Given the description of an element on the screen output the (x, y) to click on. 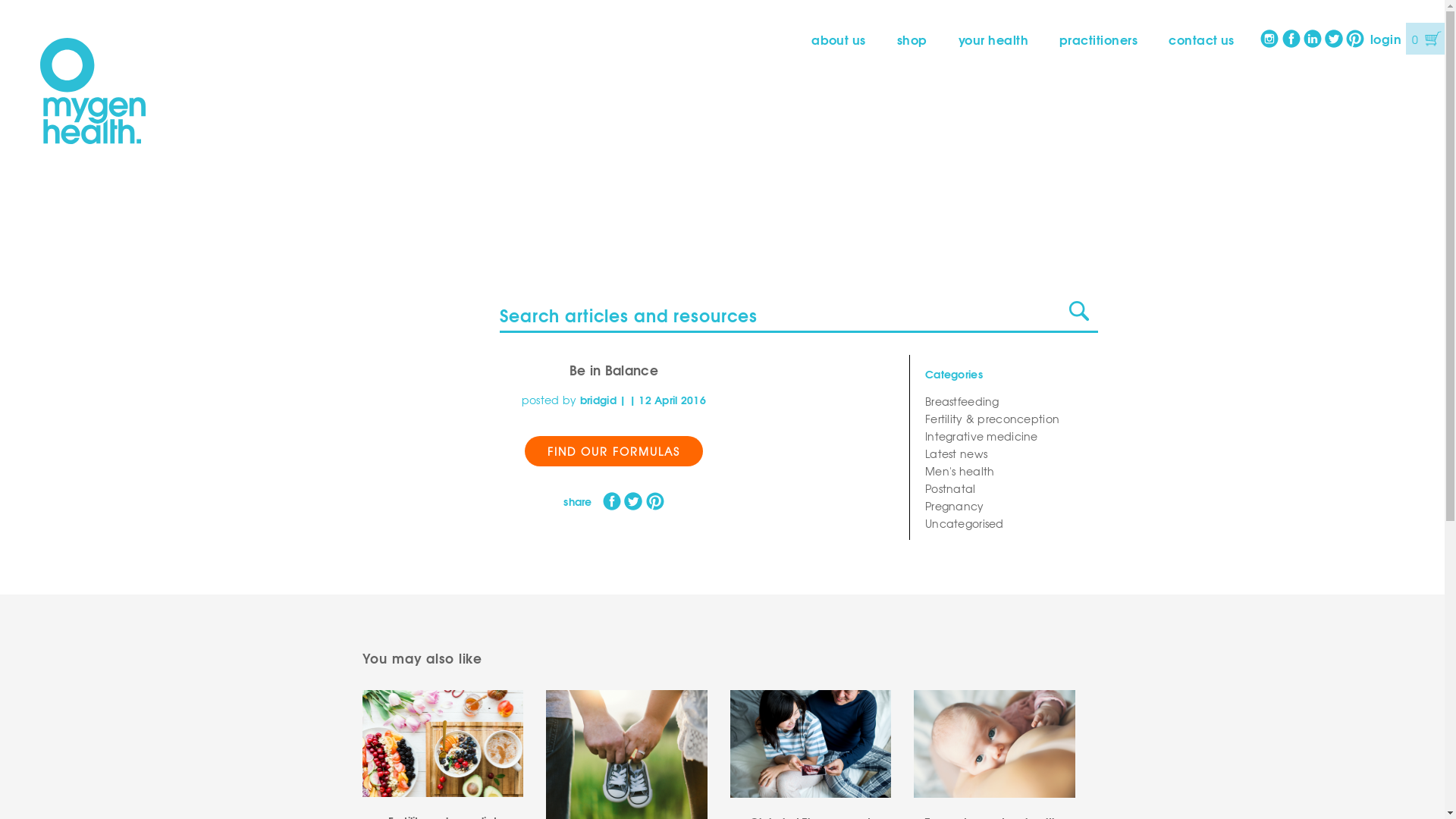
Breastfeeding Element type: text (1003, 401)
Search Element type: text (1078, 312)
practitioners Element type: text (1097, 38)
FIND OUR FORMULAS Element type: text (613, 451)
You may also like Element type: text (422, 657)
Uncategorised Element type: text (1003, 523)
Fertility & preconception Element type: text (1003, 418)
Postnatal Element type: text (1003, 488)
Pregnancy Element type: text (1003, 505)
Latest news Element type: text (1003, 453)
0 Element type: text (1424, 38)
your health Element type: text (992, 38)
Men's health Element type: text (1003, 471)
about us Element type: text (838, 38)
Integrative medicine Element type: text (1003, 436)
shop Element type: text (911, 38)
login Element type: text (1385, 37)
contact us Element type: text (1200, 38)
